Given the description of an element on the screen output the (x, y) to click on. 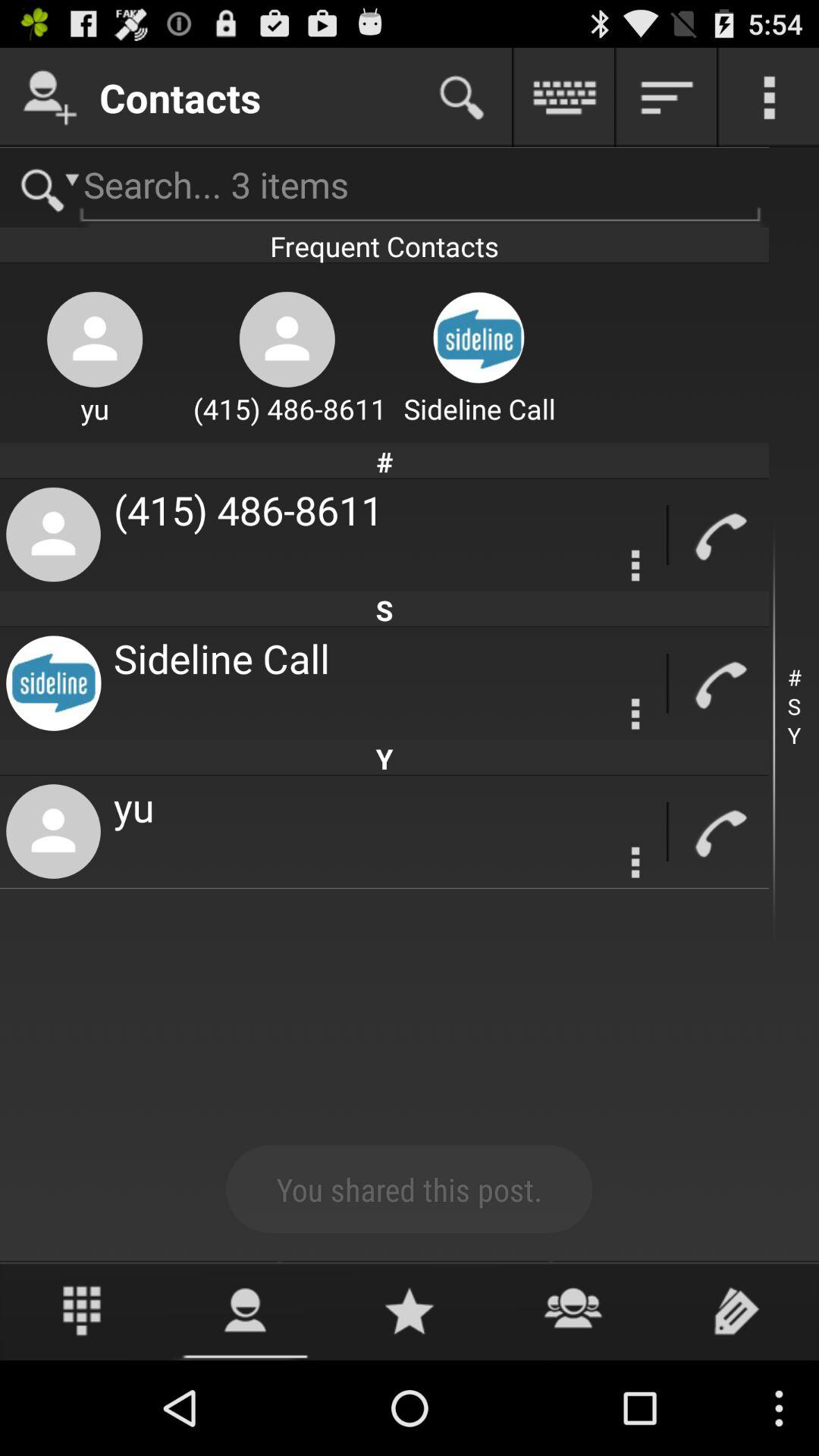
show details (666, 97)
